Given the description of an element on the screen output the (x, y) to click on. 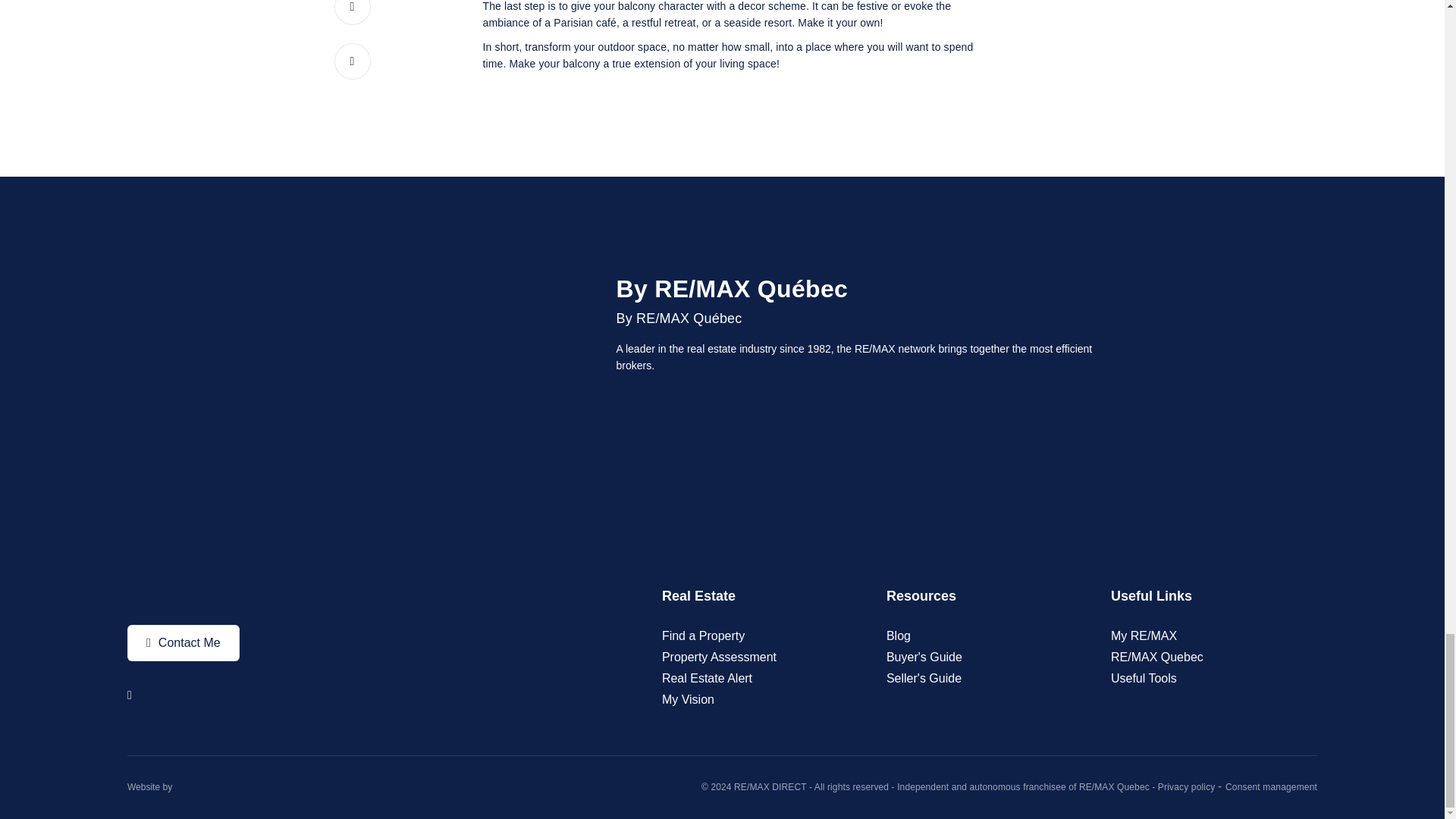
Contact Me (184, 642)
Consent management (1271, 787)
Property Assessment (719, 657)
Buyer's Guide (924, 657)
My Vision (688, 699)
Real Estate Alert (707, 678)
Find a Property (703, 635)
Blog (898, 635)
Seller's Guide (923, 678)
Website by (149, 786)
